Given the description of an element on the screen output the (x, y) to click on. 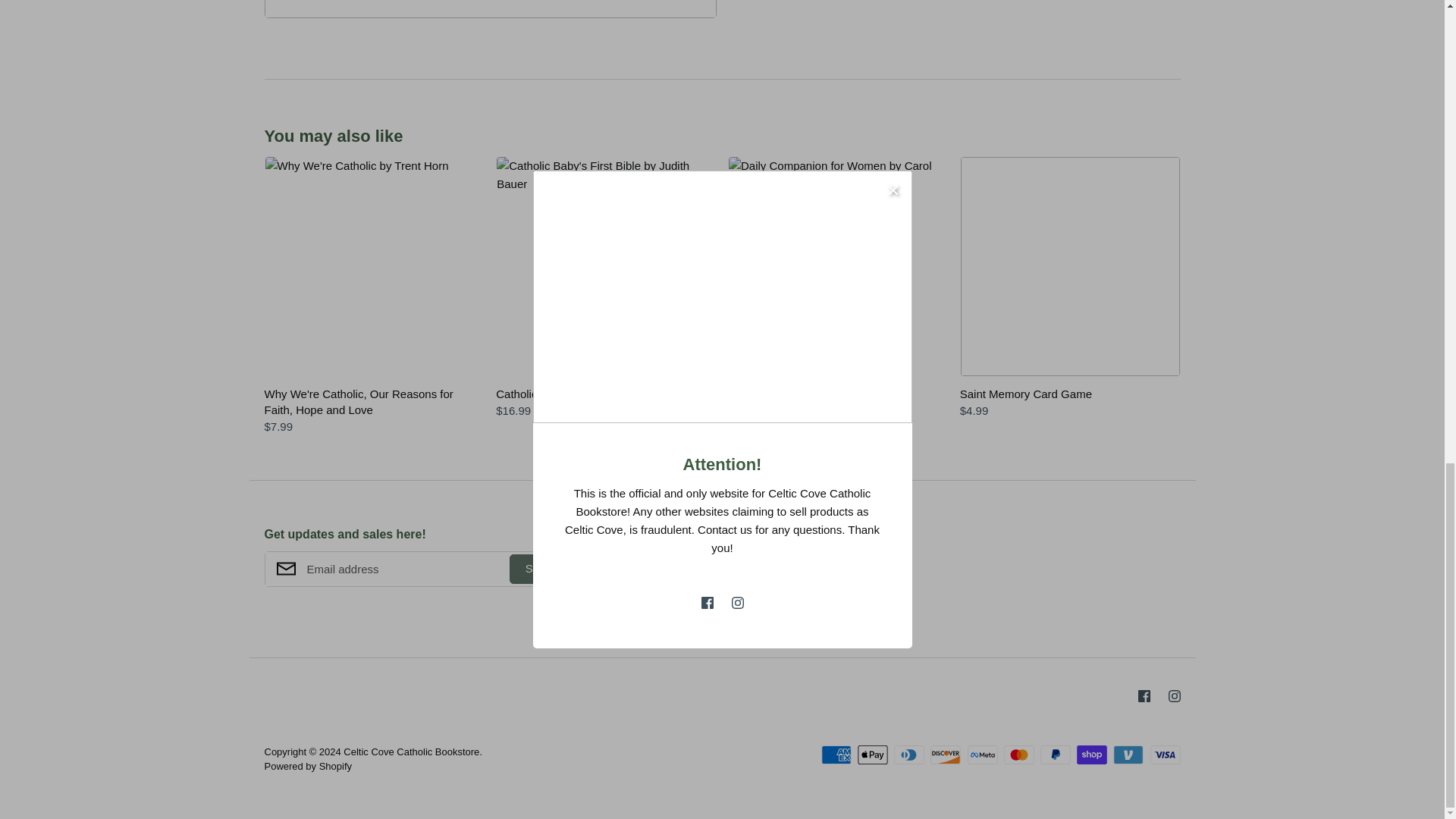
Discover (945, 754)
American Express (836, 754)
Meta Pay (982, 754)
Apple Pay (872, 754)
Mastercard (1018, 754)
Diners Club (908, 754)
